Given the description of an element on the screen output the (x, y) to click on. 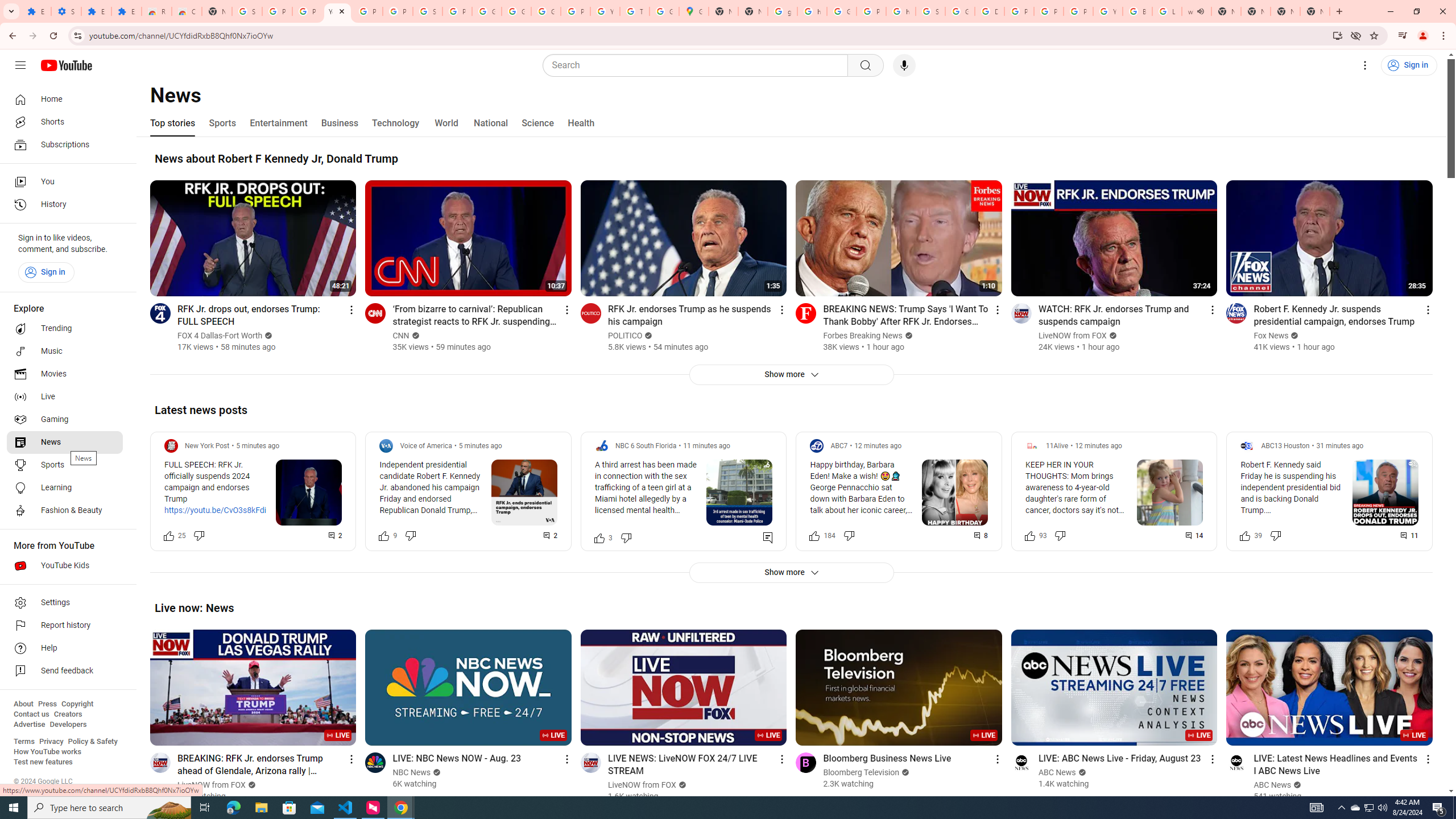
FOX 4 Dallas-Fort Worth (220, 335)
YouTube (1107, 11)
Subscriptions (64, 144)
Press (46, 703)
Policy & Safety (91, 741)
Learning (64, 487)
Extensions (36, 11)
Go to channel (1236, 762)
https://scholar.google.com/ (811, 11)
Comment (1409, 534)
